Given the description of an element on the screen output the (x, y) to click on. 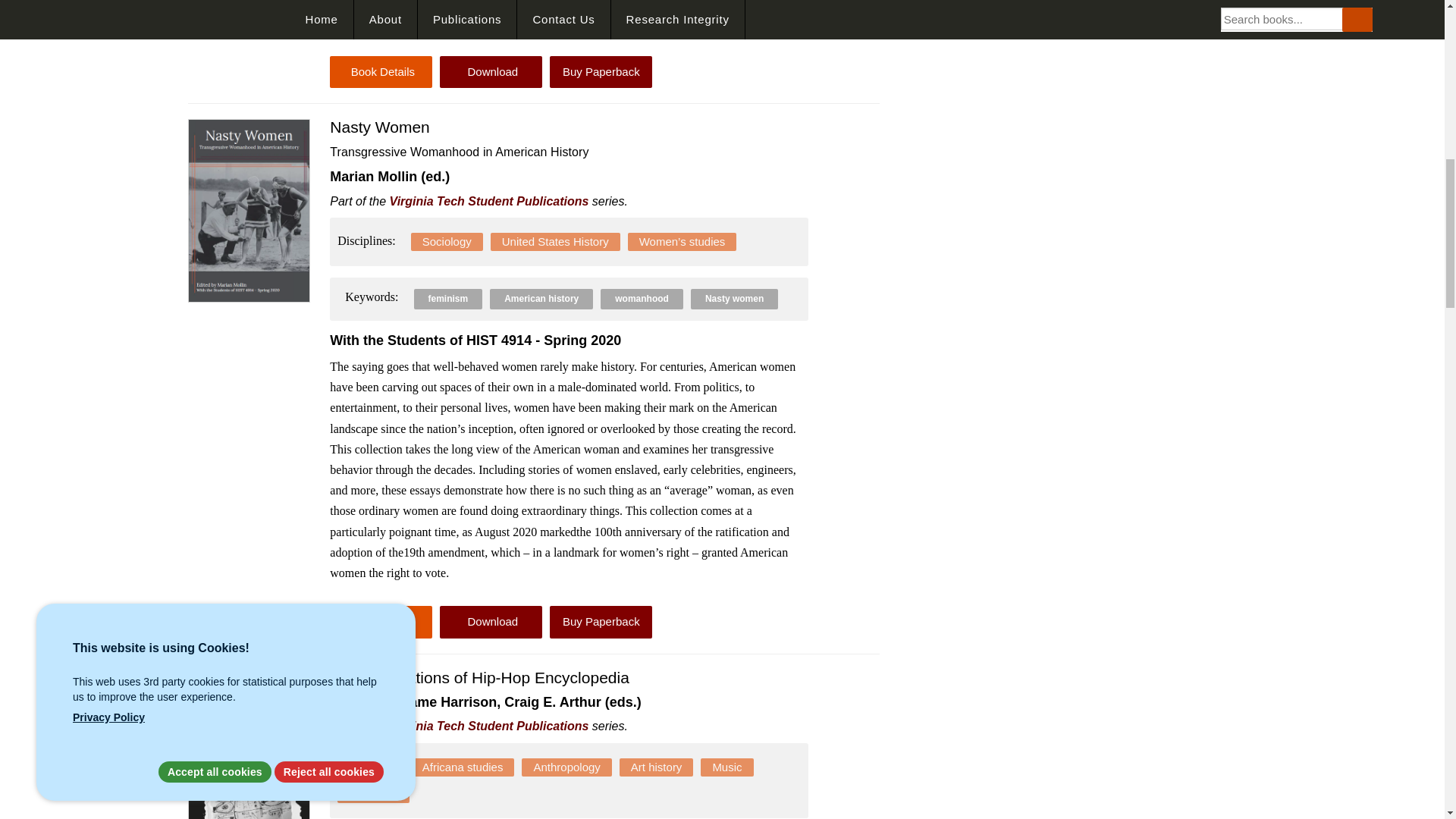
Virginia Tech Student Publications (489, 201)
United States History (555, 241)
 Book Details (381, 71)
 Book Details (381, 622)
womanhood (641, 298)
feminism (448, 298)
Sociology (446, 241)
Nasty women (734, 298)
American history (541, 298)
